Given the description of an element on the screen output the (x, y) to click on. 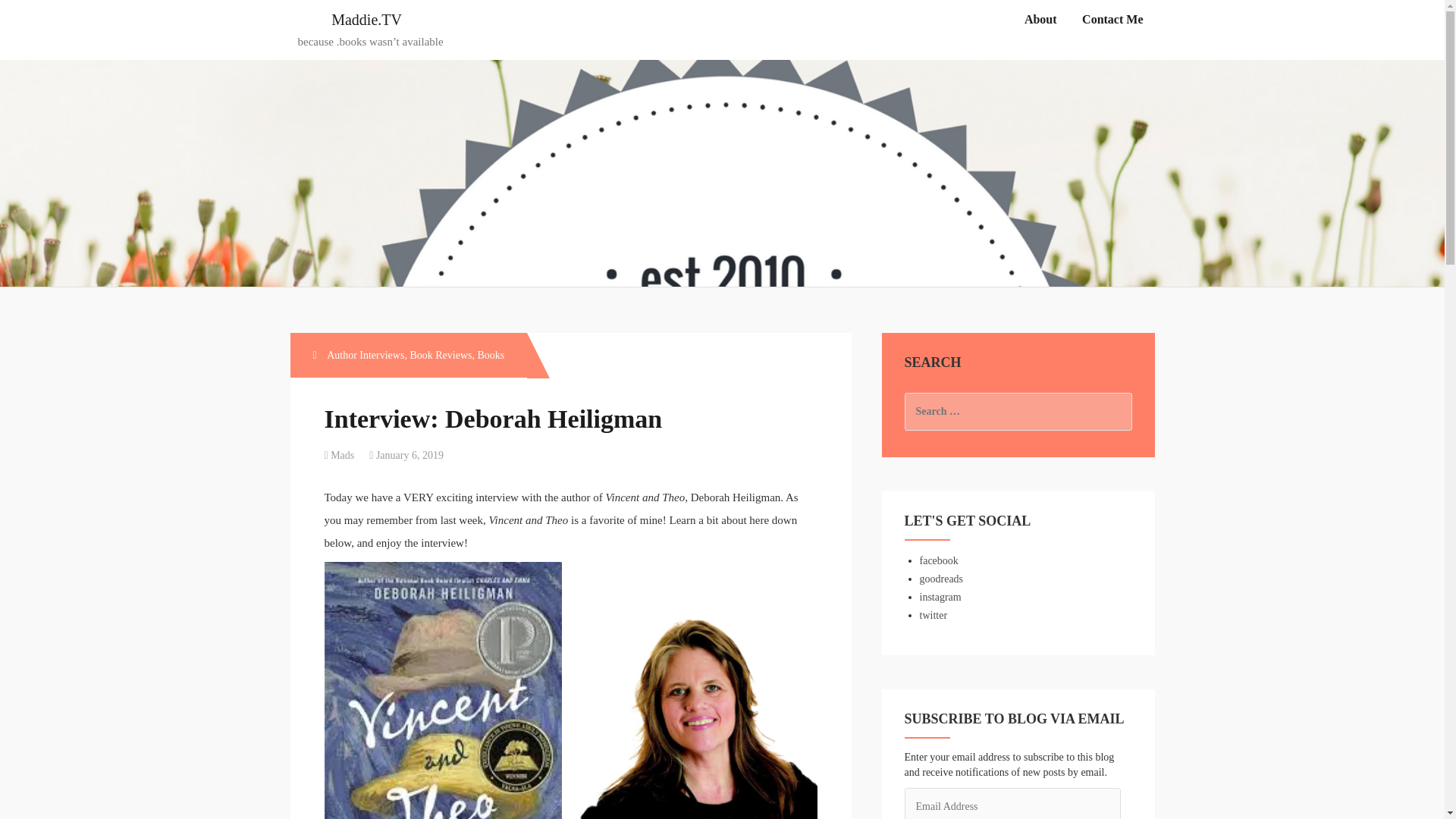
About (1041, 19)
goodreads (940, 578)
Maddie.TV (366, 19)
Search (26, 18)
instagram (939, 596)
Mads (341, 455)
Books (490, 354)
January 6, 2019 (409, 455)
twitter (932, 614)
Contact Me (1111, 19)
facebook (938, 560)
Author Interviews (365, 354)
Book Reviews (440, 354)
